Given the description of an element on the screen output the (x, y) to click on. 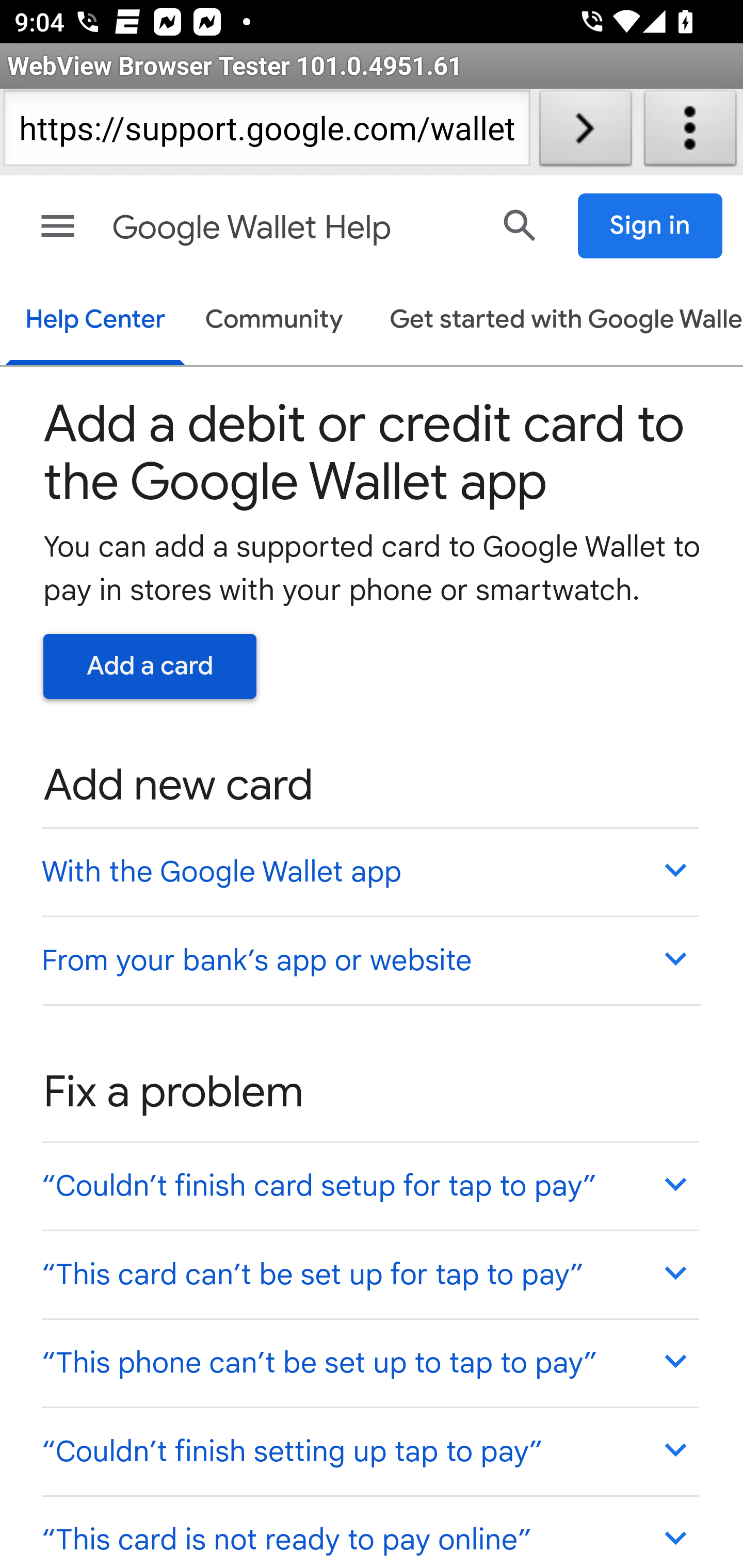
Load URL (585, 132)
About WebView (690, 132)
Main menu (58, 226)
Google Wallet Help (292, 227)
Search Help Center (519, 225)
Sign in (650, 226)
Help Center (94, 320)
Community (274, 320)
Get started with Google Wallet (555, 320)
Add a card (150, 666)
With the Google Wallet app (369, 870)
From your bank’s app or website (369, 960)
“Couldn’t finish card setup for tap to pay” (369, 1184)
“This card can’t be set up for tap to pay” (369, 1274)
“This phone can’t be set up to tap to pay” (369, 1360)
“Couldn’t finish setting up tap to pay” (369, 1451)
“This card is not ready to pay online” (369, 1530)
